Given the description of an element on the screen output the (x, y) to click on. 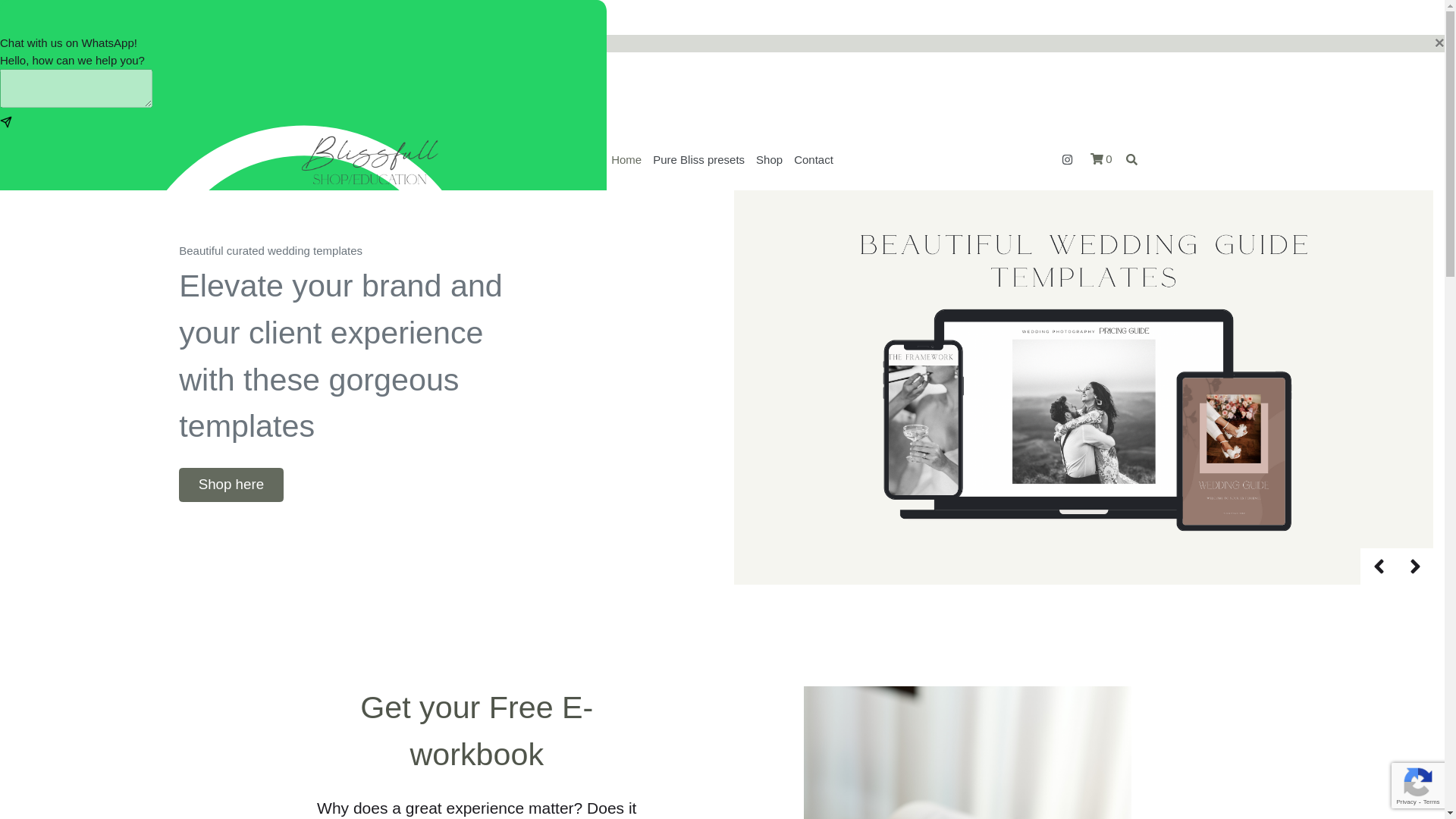
Shop (770, 159)
Pure Bliss presets (699, 159)
Shop here (230, 484)
Contact (814, 159)
Home (626, 159)
